Given the description of an element on the screen output the (x, y) to click on. 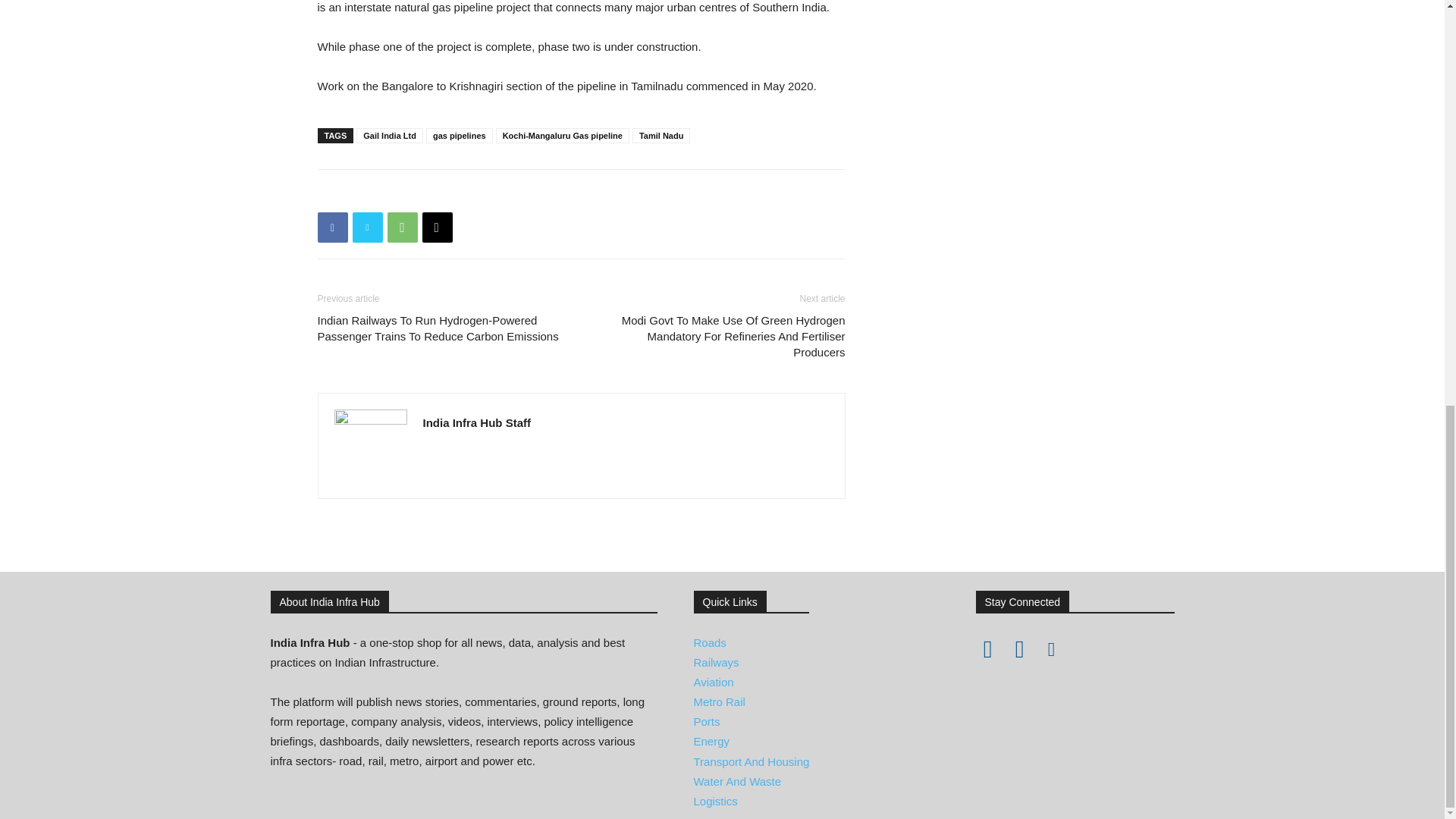
Facebook (332, 227)
